Given the description of an element on the screen output the (x, y) to click on. 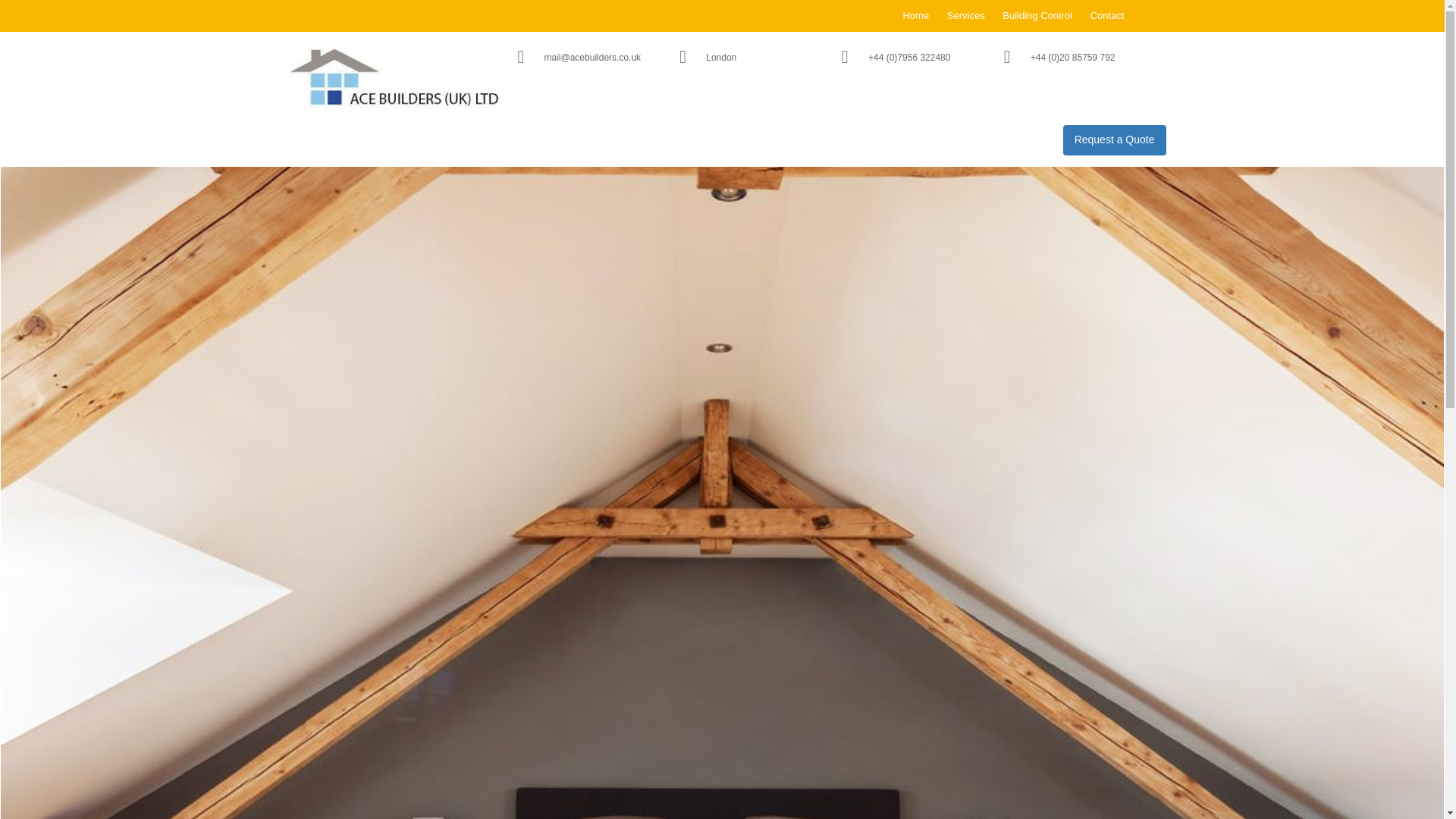
Contact (1107, 15)
Home (915, 15)
Services (966, 15)
Request a Quote (1114, 140)
Building Control (1037, 15)
